Given the description of an element on the screen output the (x, y) to click on. 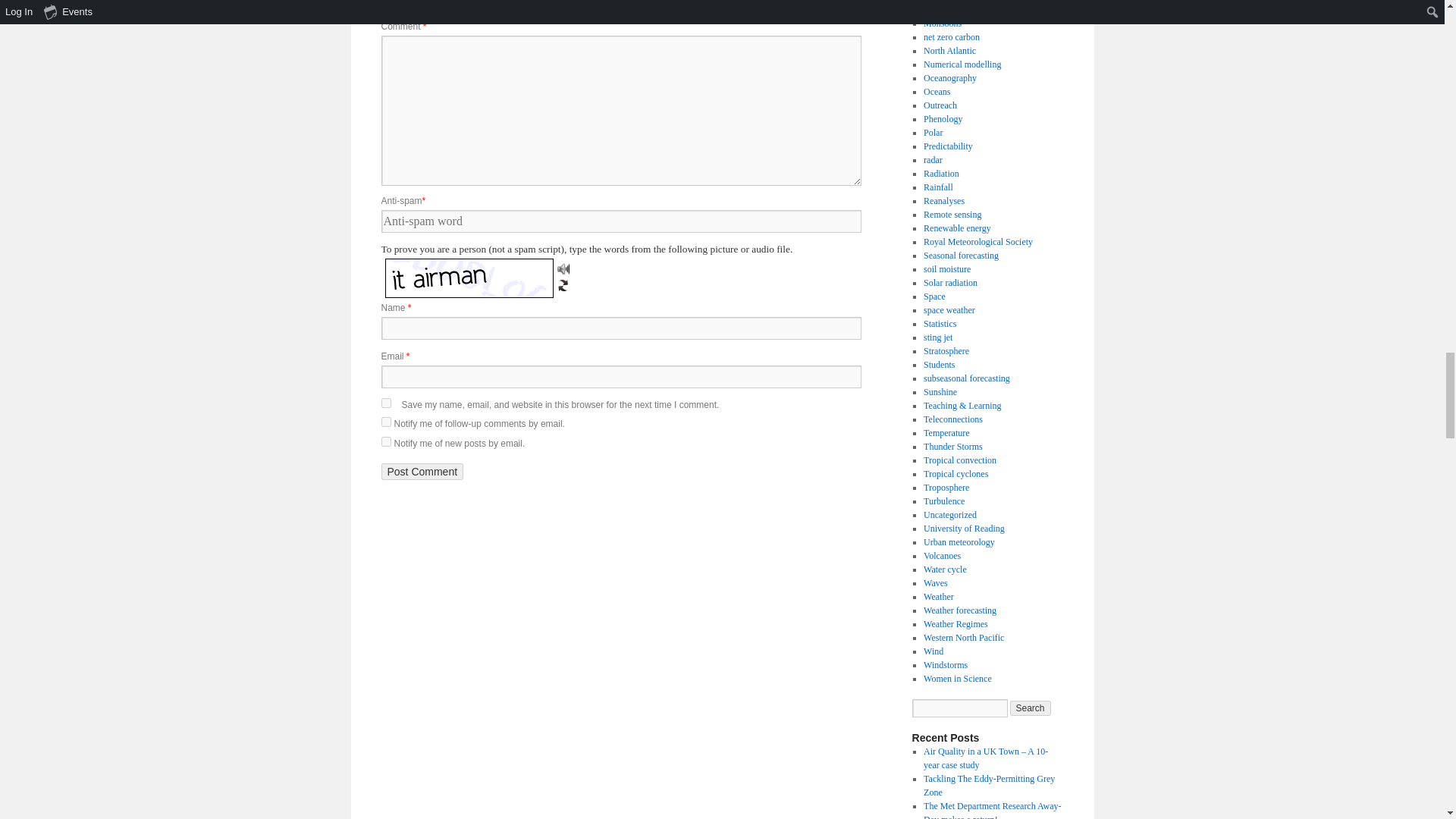
Post Comment (421, 471)
yes (385, 402)
Post Comment (421, 471)
subscribe (385, 441)
subscribe (385, 421)
Load new (562, 284)
Listen (562, 268)
Search (1030, 708)
